Given the description of an element on the screen output the (x, y) to click on. 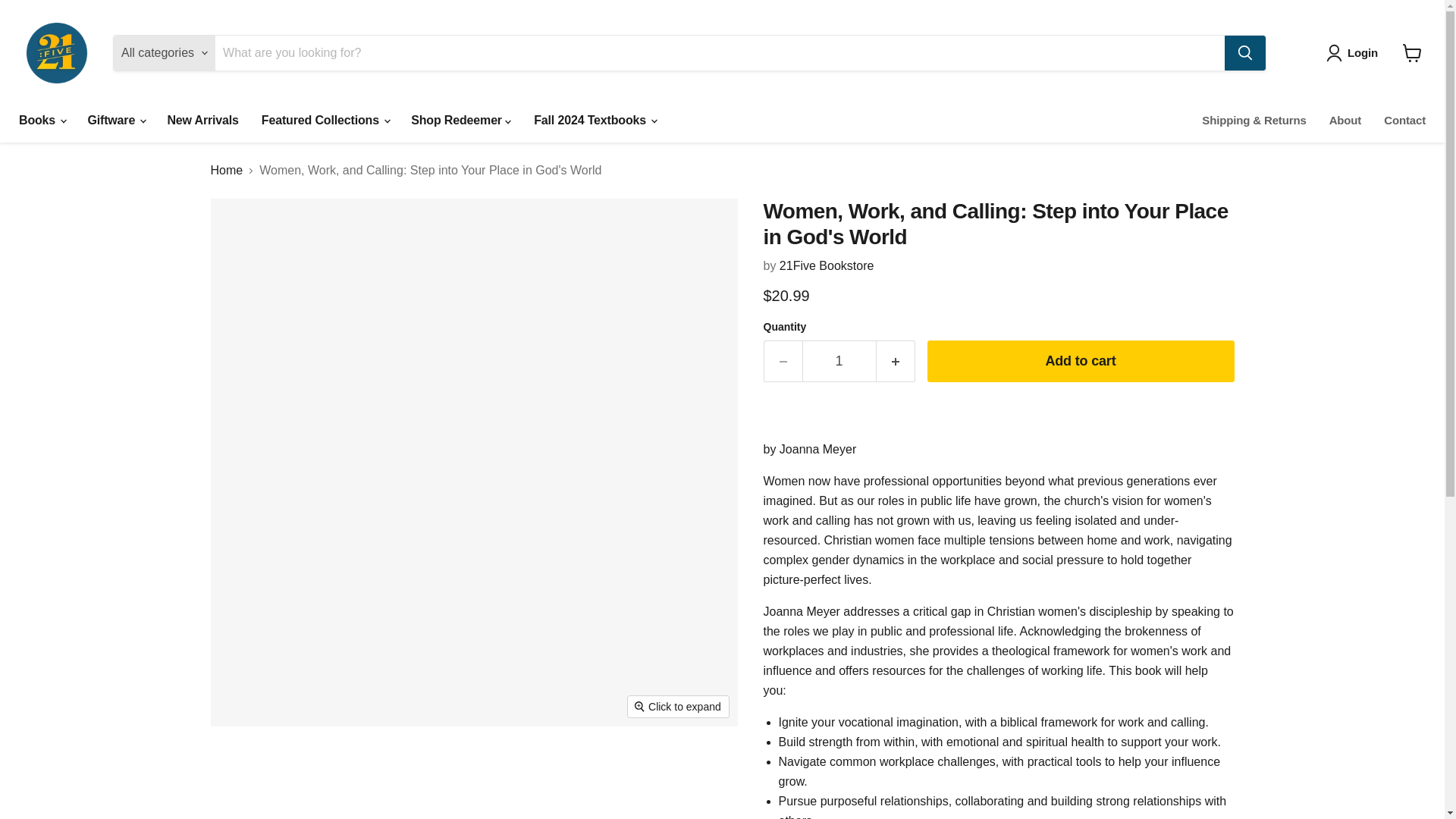
View cart (1411, 52)
1 (839, 361)
21Five Bookstore (826, 265)
New Arrivals (201, 120)
Login (1355, 53)
